Given the description of an element on the screen output the (x, y) to click on. 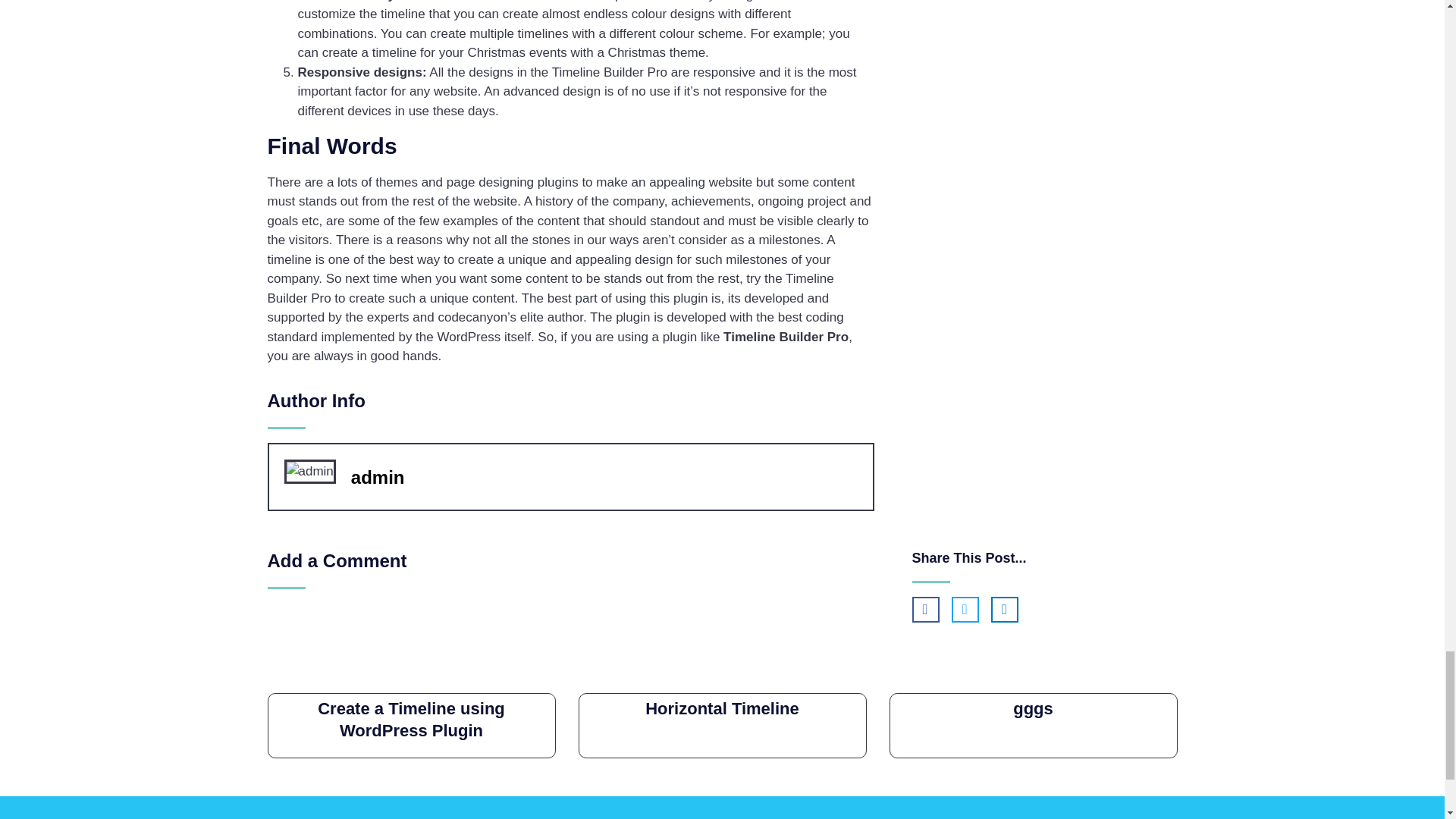
Create a Timeline using WordPress Plugin (411, 720)
Horizontal Timeline (722, 708)
gggs (1032, 708)
